Given the description of an element on the screen output the (x, y) to click on. 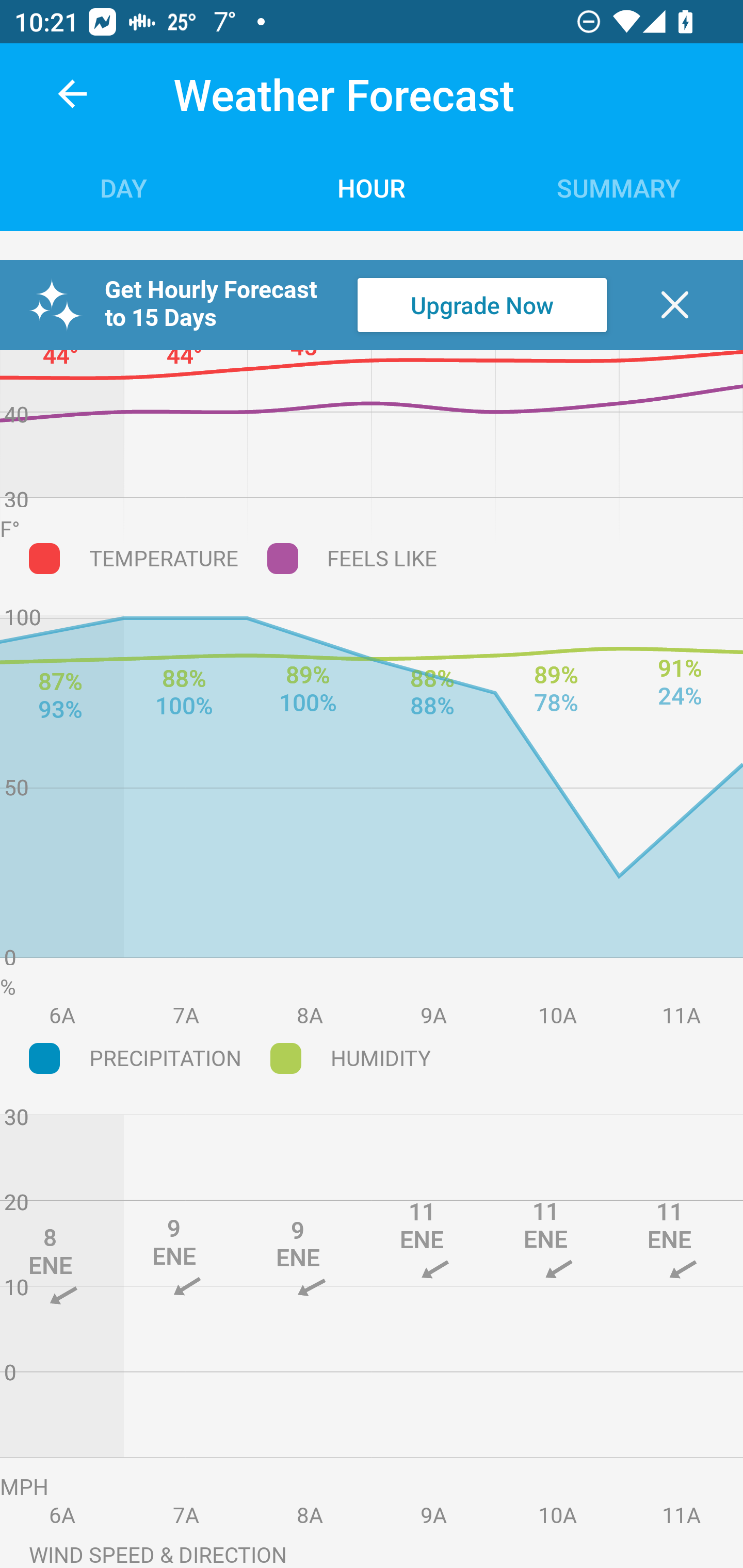
back (71, 93)
Day Tab DAY (123, 187)
Summary Tab SUMMARY (619, 187)
Upgrade Now (482, 304)
